Given the description of an element on the screen output the (x, y) to click on. 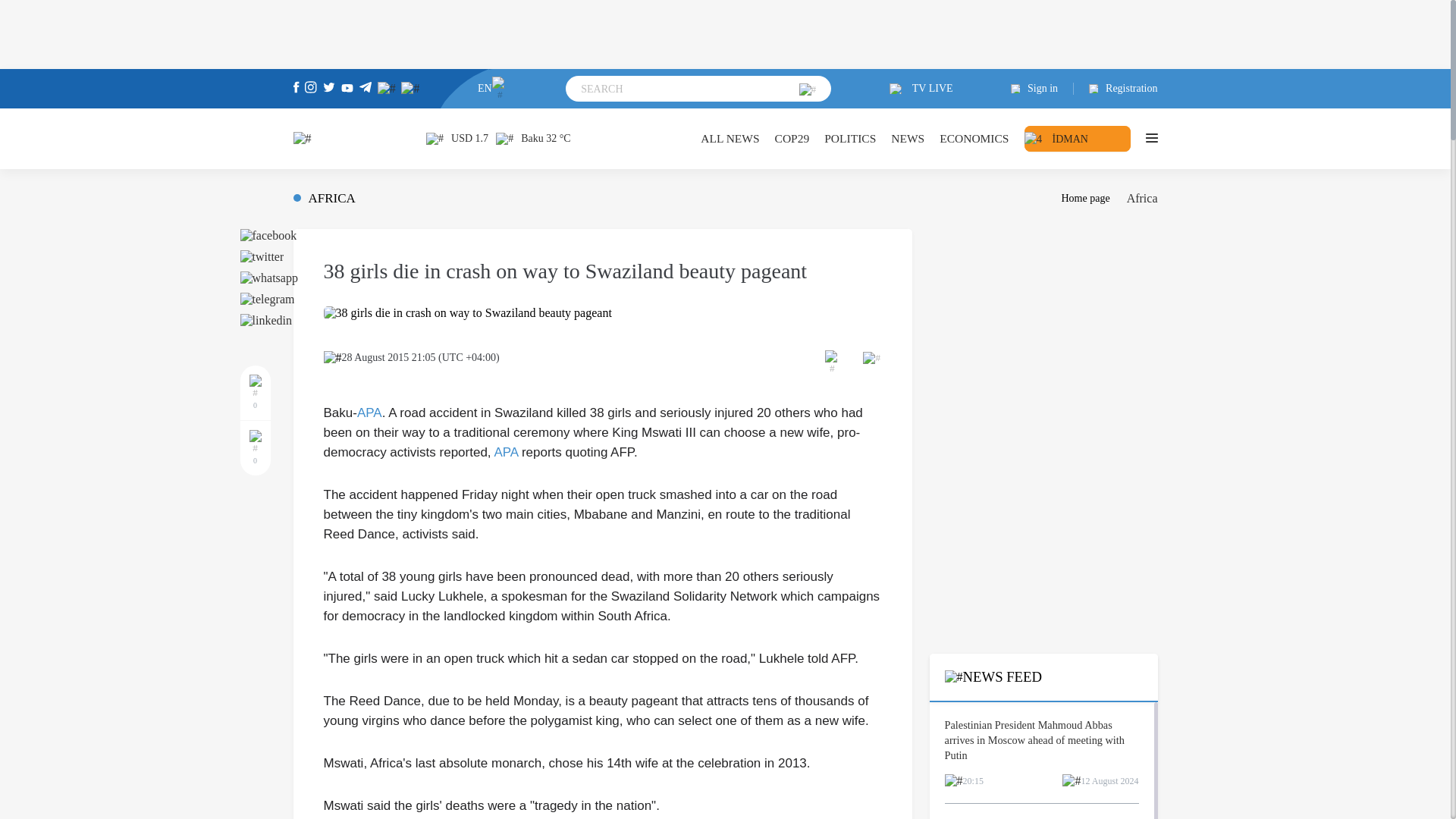
ECONOMICS (974, 138)
Registration (1115, 88)
POLITICS (850, 138)
ALL NEWS (729, 138)
NEWS (907, 138)
USD 1.7 (456, 138)
TV LIVE (921, 88)
Sign in (1042, 88)
COP29 (791, 138)
